Given the description of an element on the screen output the (x, y) to click on. 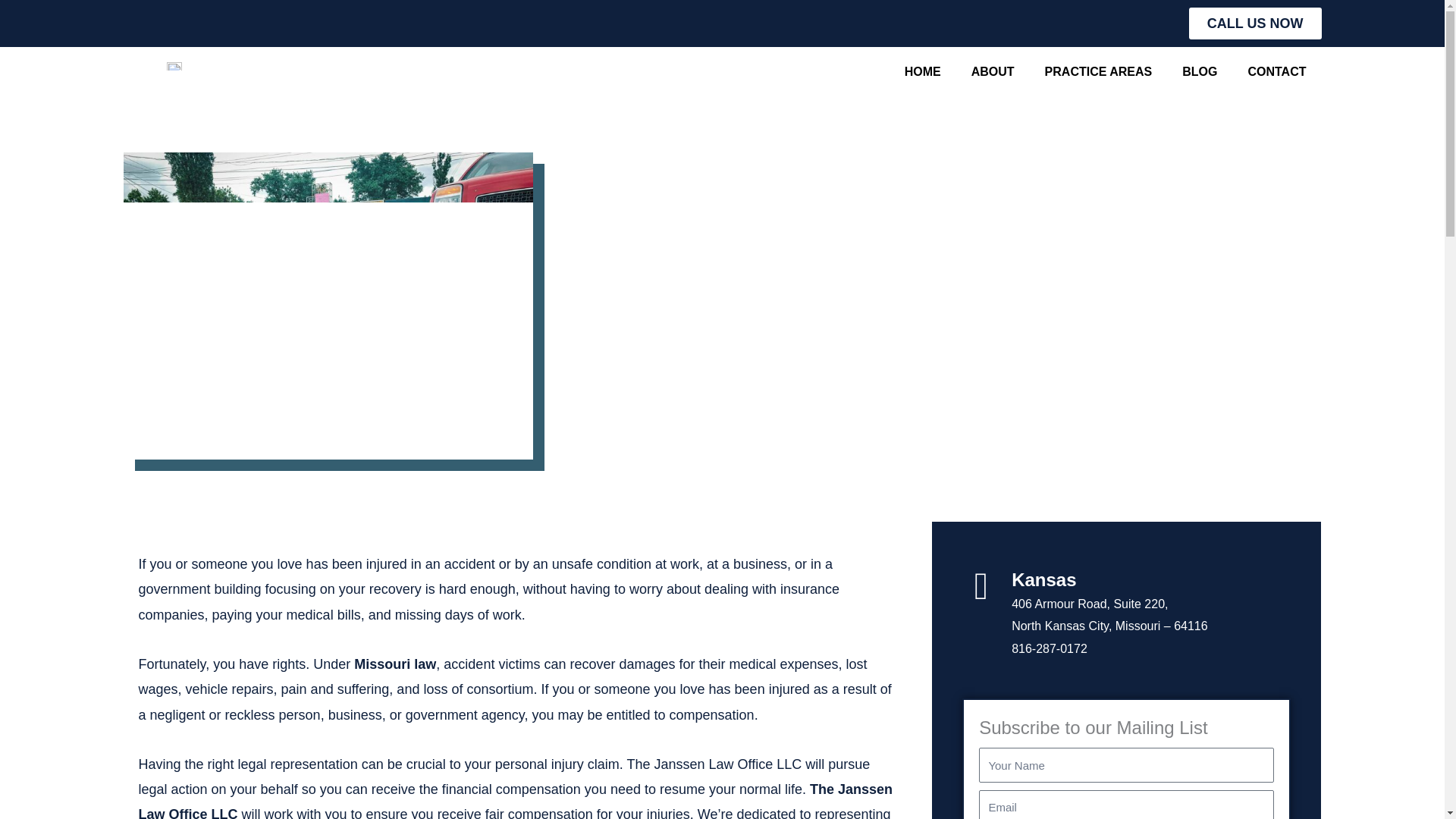
HOME (922, 71)
CALL US NOW (1255, 23)
PRACTICE AREAS (1098, 71)
ABOUT (992, 71)
